Given the description of an element on the screen output the (x, y) to click on. 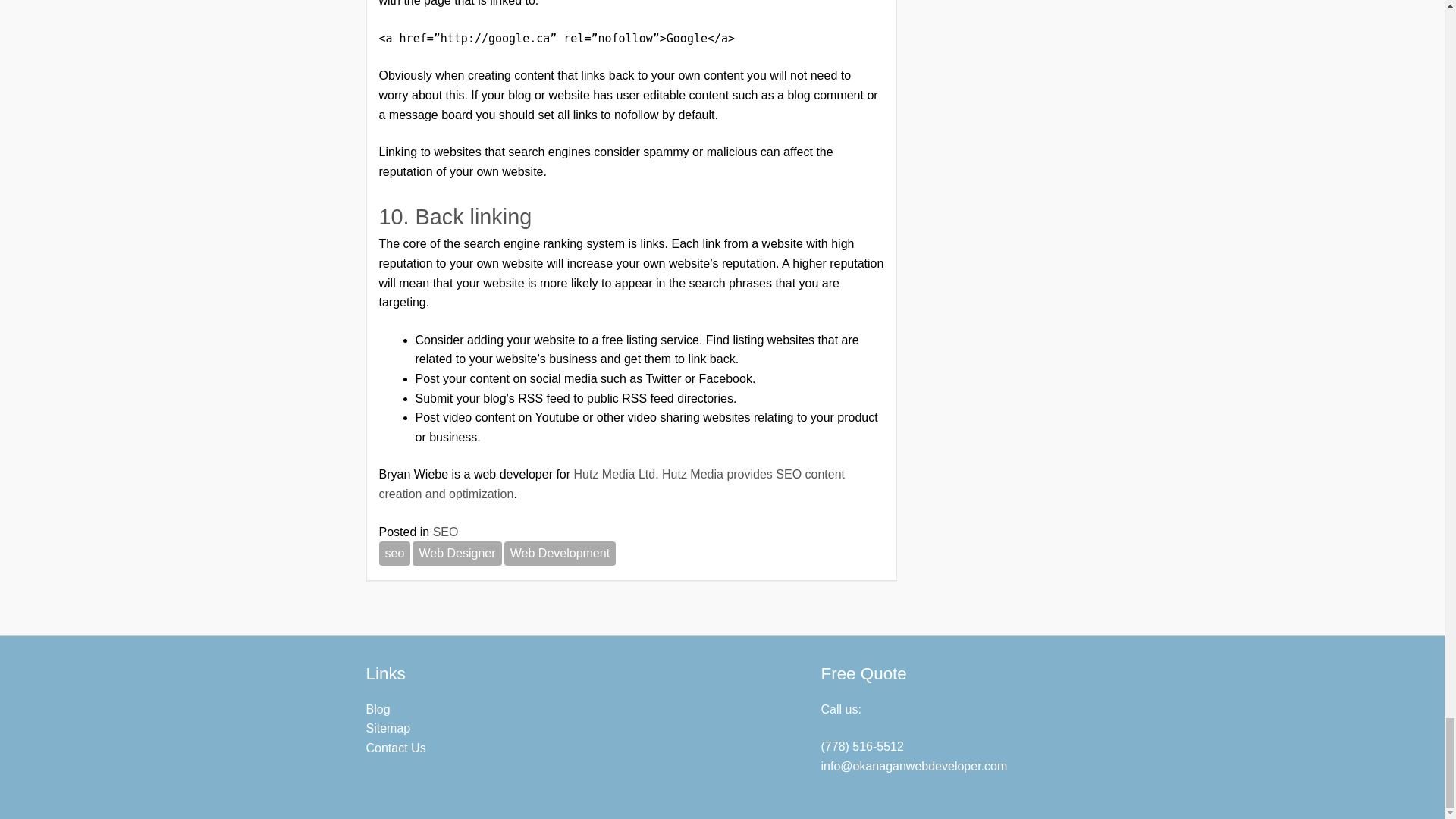
Hutz Media Ltd (614, 473)
